Given the description of an element on the screen output the (x, y) to click on. 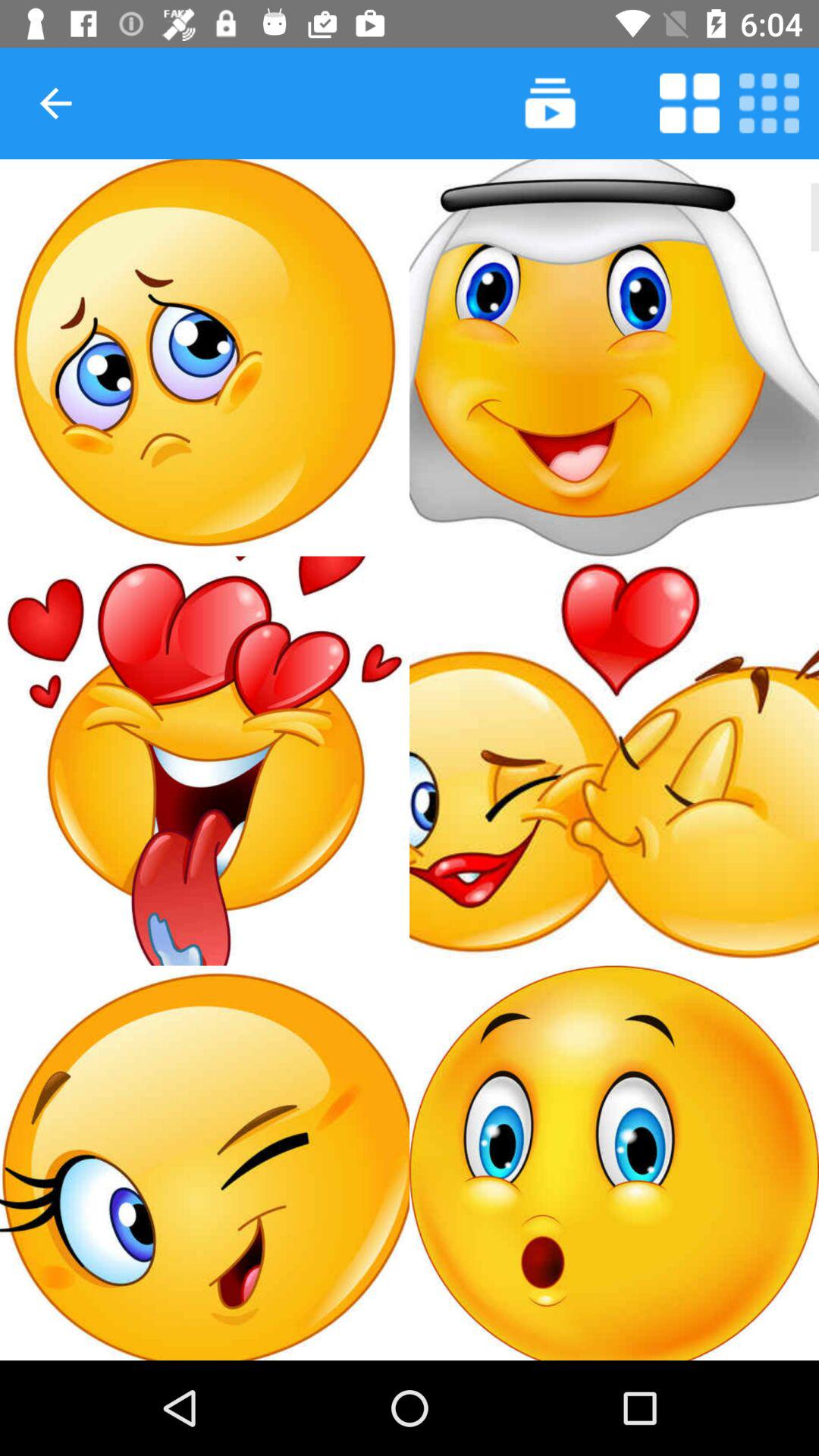
select emoji (614, 357)
